Given the description of an element on the screen output the (x, y) to click on. 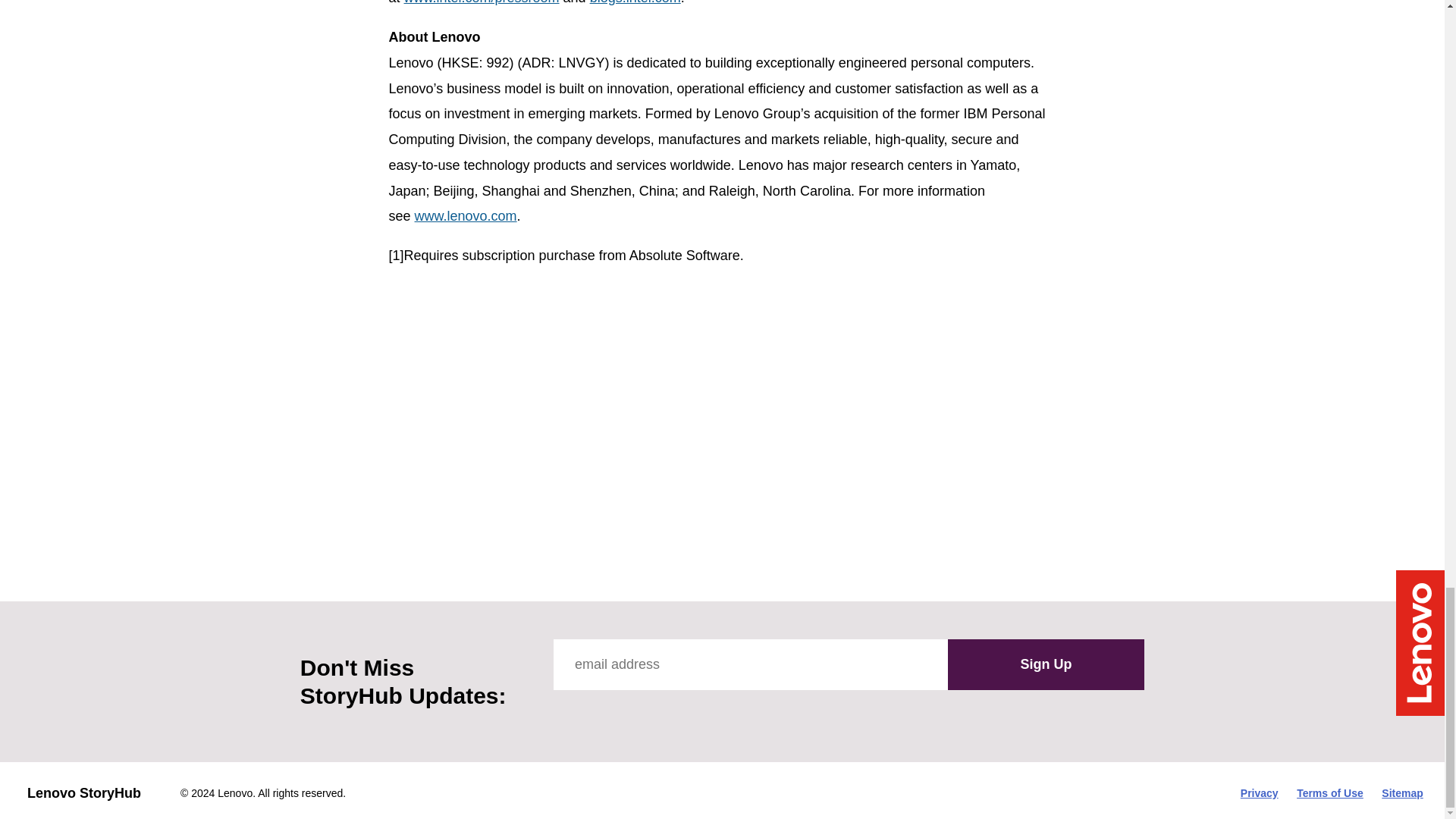
www.lenovo.com (465, 215)
Sign Up (1045, 665)
Twitter (599, 712)
Youtube (633, 712)
Privacy (1259, 793)
LinkedIn (701, 712)
Instagram (667, 712)
Learn more about our AI-powered transformation. (854, 507)
blogs.intel.com (635, 2)
Sign Up (1045, 665)
